Given the description of an element on the screen output the (x, y) to click on. 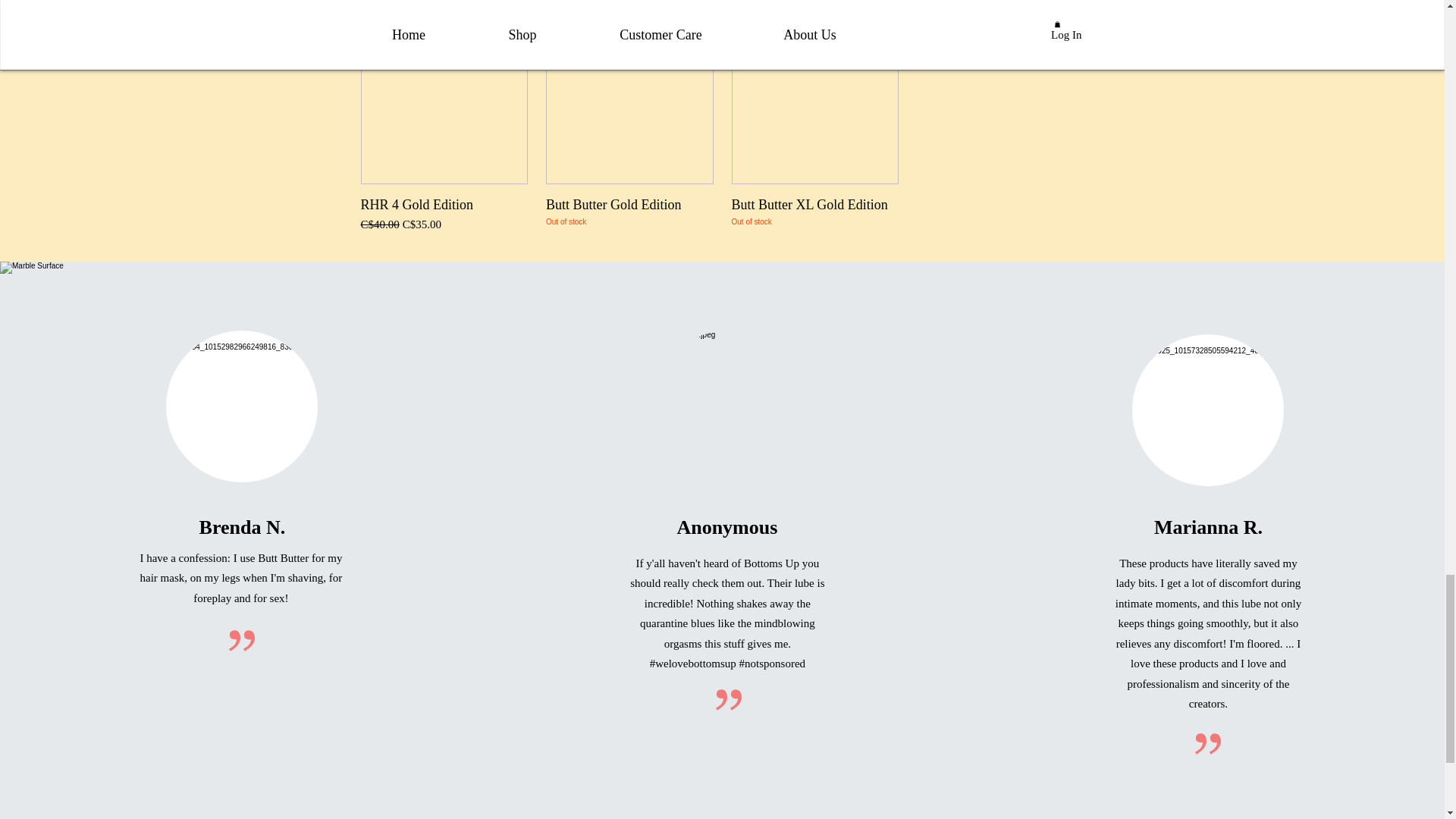
GettyImages-535587703.jpg (241, 406)
GettyImages-124893619.jpg (726, 406)
GettyImages-145680711.jpg (1208, 409)
